Given the description of an element on the screen output the (x, y) to click on. 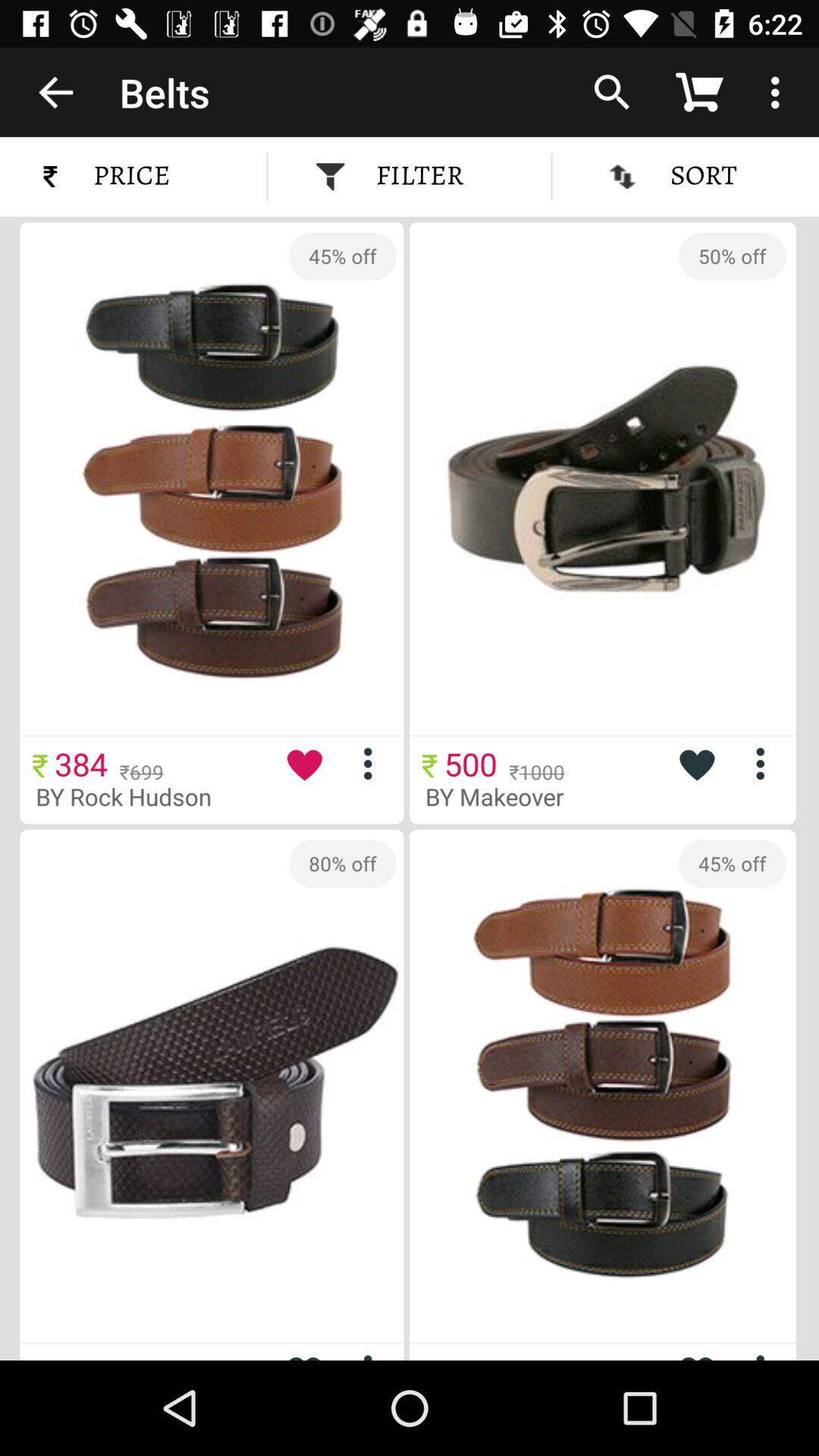
favorite (304, 1351)
